Given the description of an element on the screen output the (x, y) to click on. 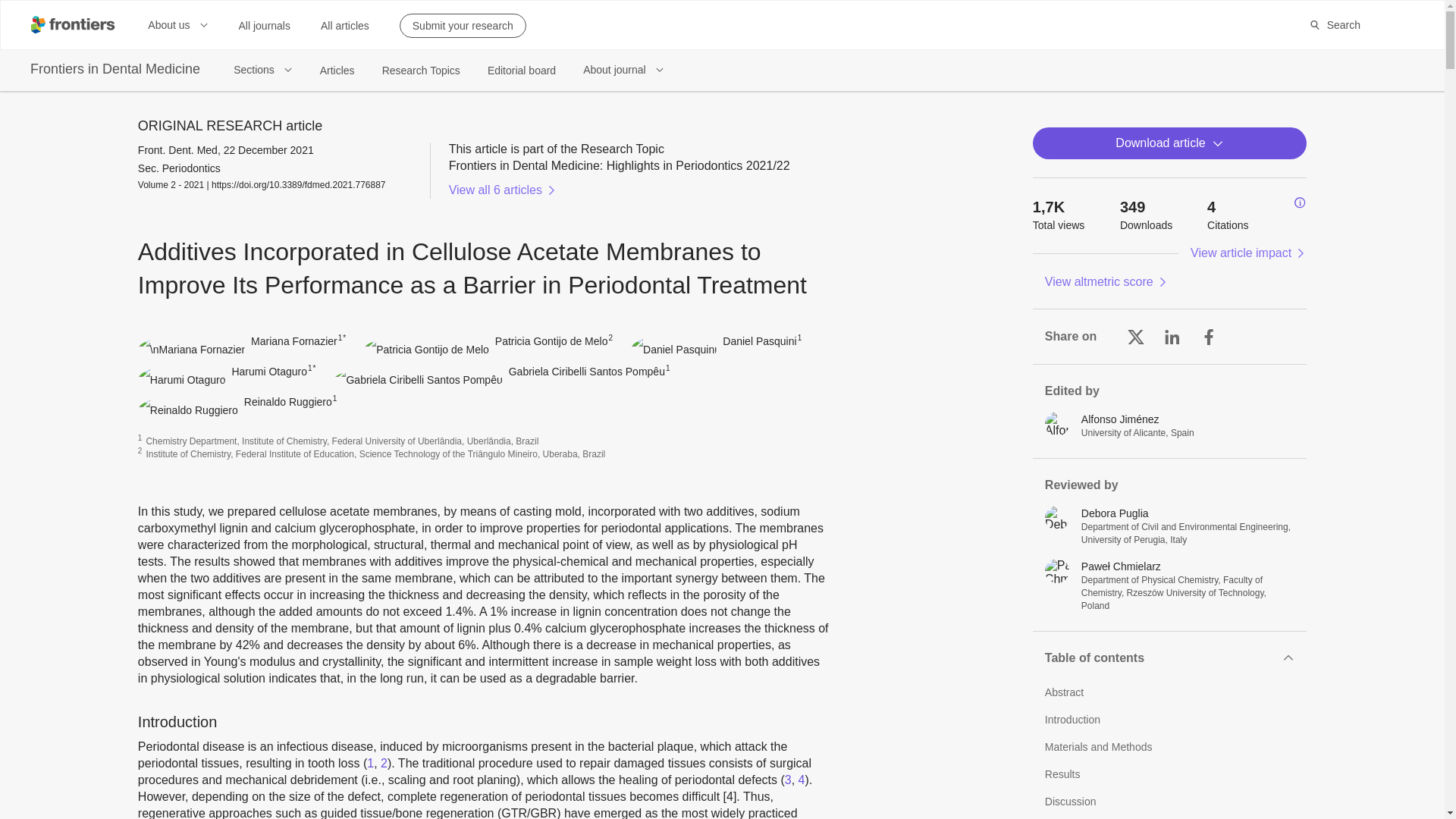
Share on Facebook (1208, 336)
All journals (263, 25)
Search (1333, 24)
Share on X (1135, 336)
About us (178, 24)
Share on Linkedin (1171, 336)
Submit your research (461, 25)
All articles (344, 25)
